Given the description of an element on the screen output the (x, y) to click on. 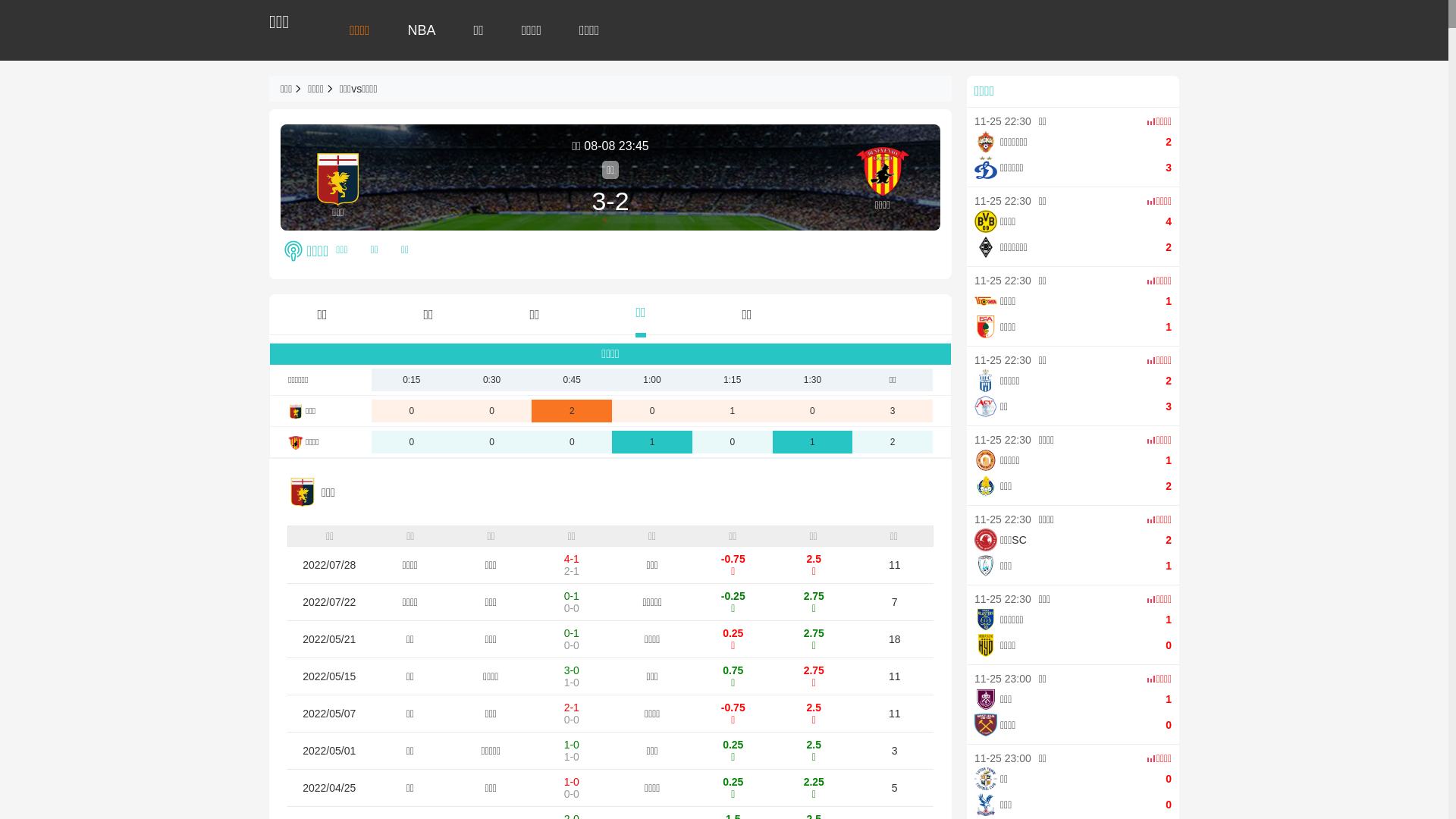
NBA Element type: text (421, 30)
